Given the description of an element on the screen output the (x, y) to click on. 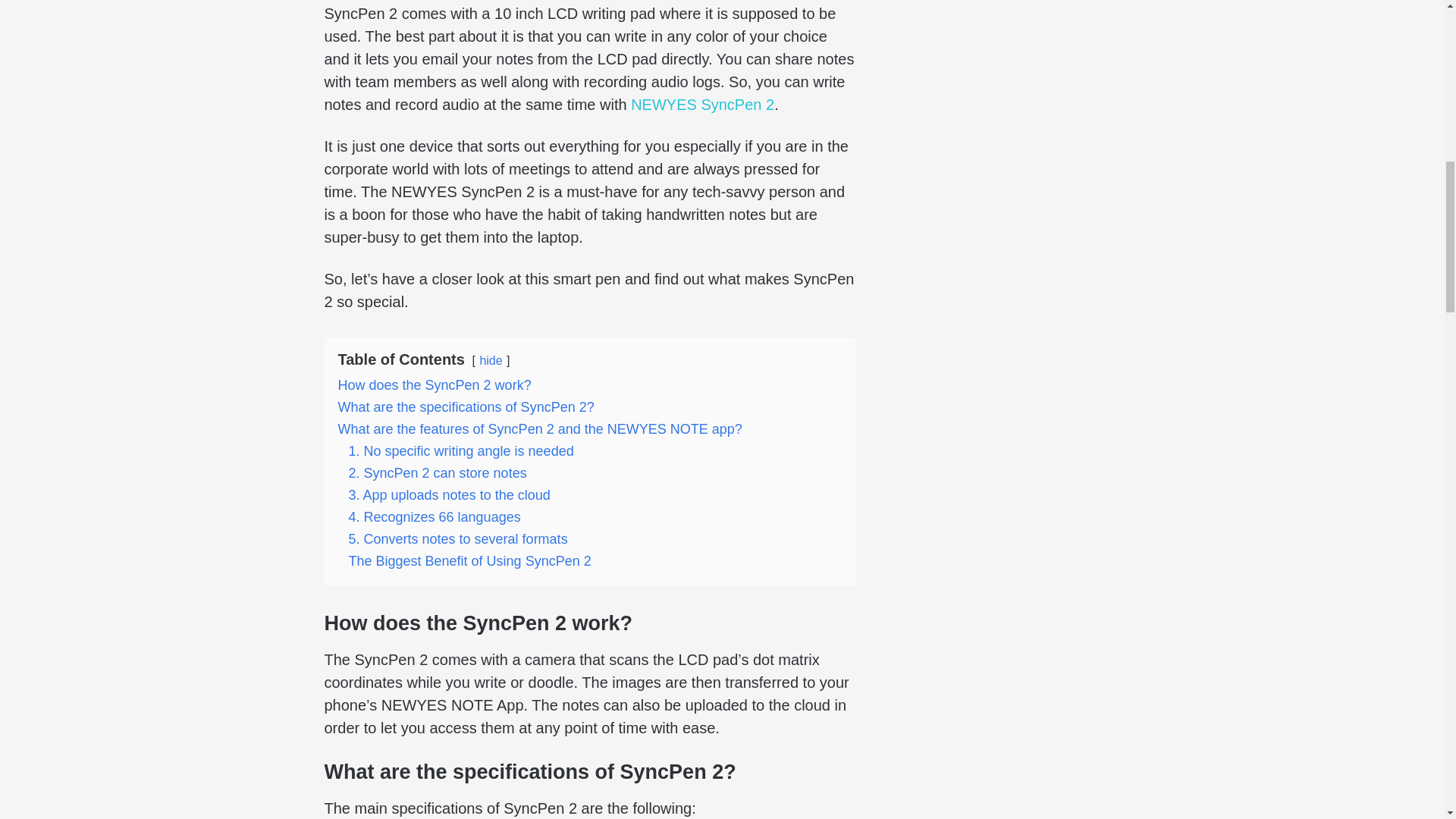
2. SyncPen 2 can store notes (438, 473)
NEWYES SyncPen 2 (702, 104)
4. Recognizes 66 languages (435, 516)
The Biggest Benefit of Using SyncPen 2 (470, 560)
hide (490, 359)
5. Converts notes to several formats (458, 539)
3. App uploads notes to the cloud (449, 494)
1. No specific writing angle is needed (461, 450)
How does the SyncPen 2 work? (434, 385)
What are the features of SyncPen 2 and the NEWYES NOTE app? (539, 428)
What are the specifications of SyncPen 2? (465, 406)
